Given the description of an element on the screen output the (x, y) to click on. 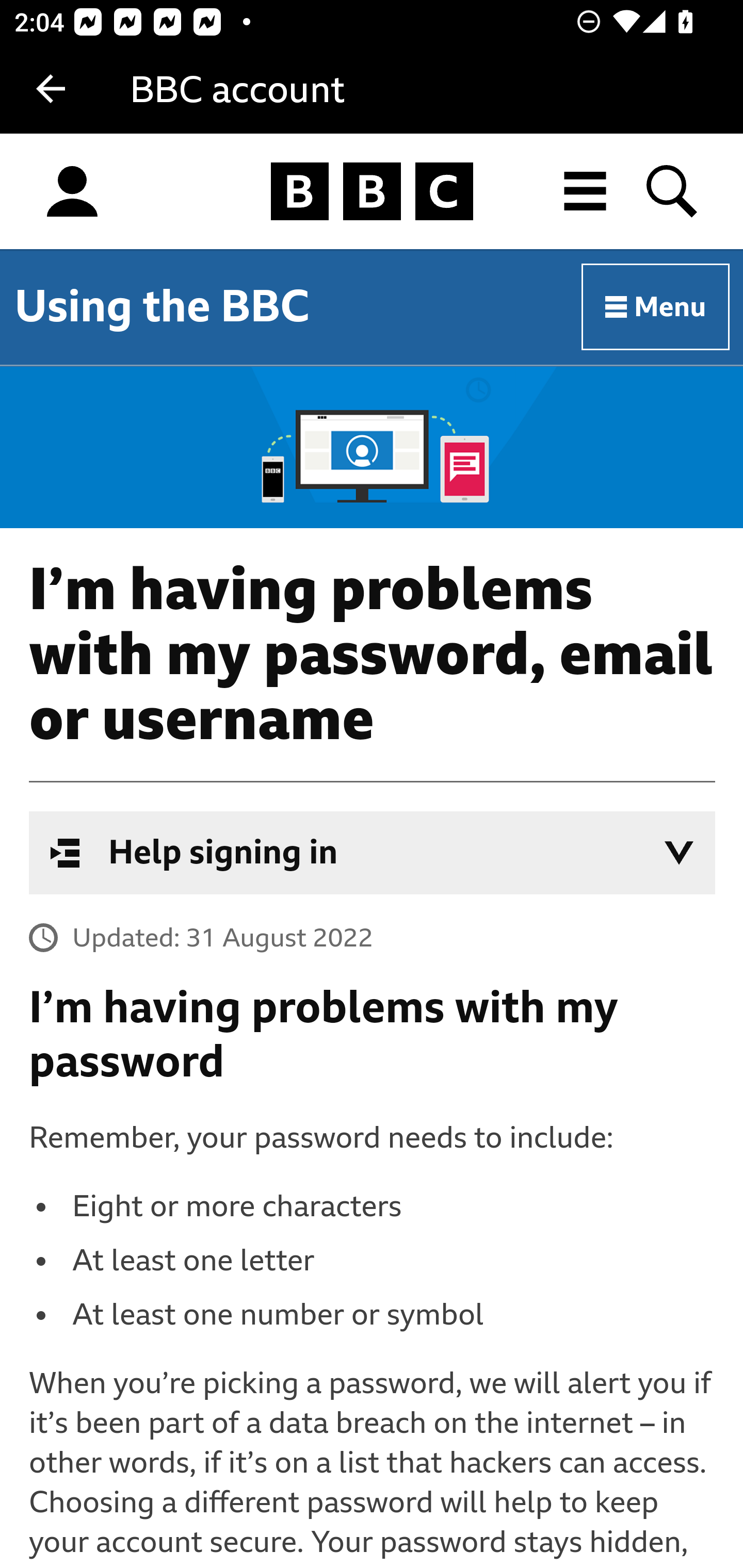
All BBC destinations menu (585, 191)
Search BBC (672, 191)
Sign in (71, 192)
Homepage (371, 192)
Menu (656, 307)
Using the BBC (162, 306)
Open in-page navigation (679, 852)
